Given the description of an element on the screen output the (x, y) to click on. 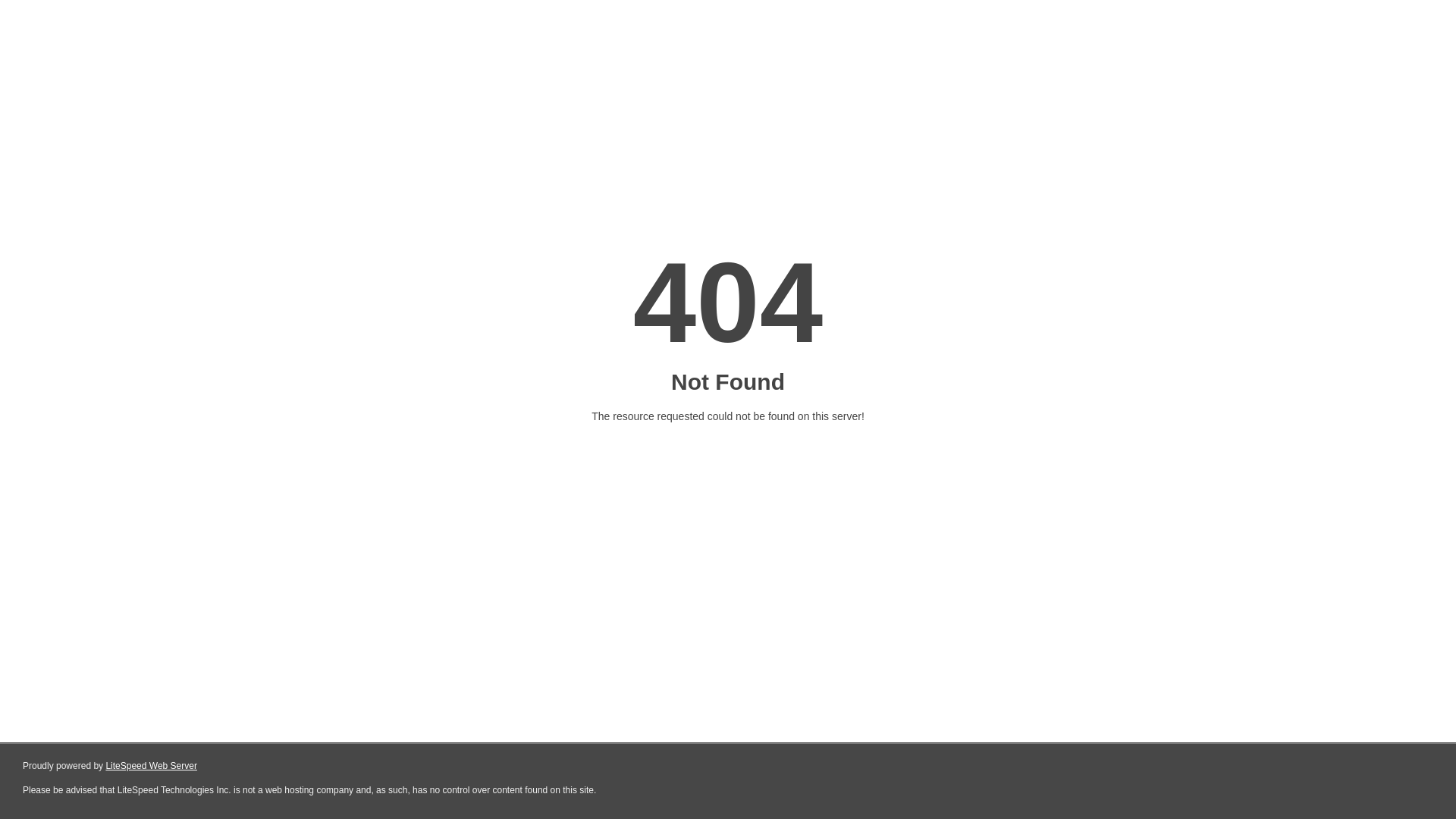
LiteSpeed Web Server Element type: text (151, 765)
